Given the description of an element on the screen output the (x, y) to click on. 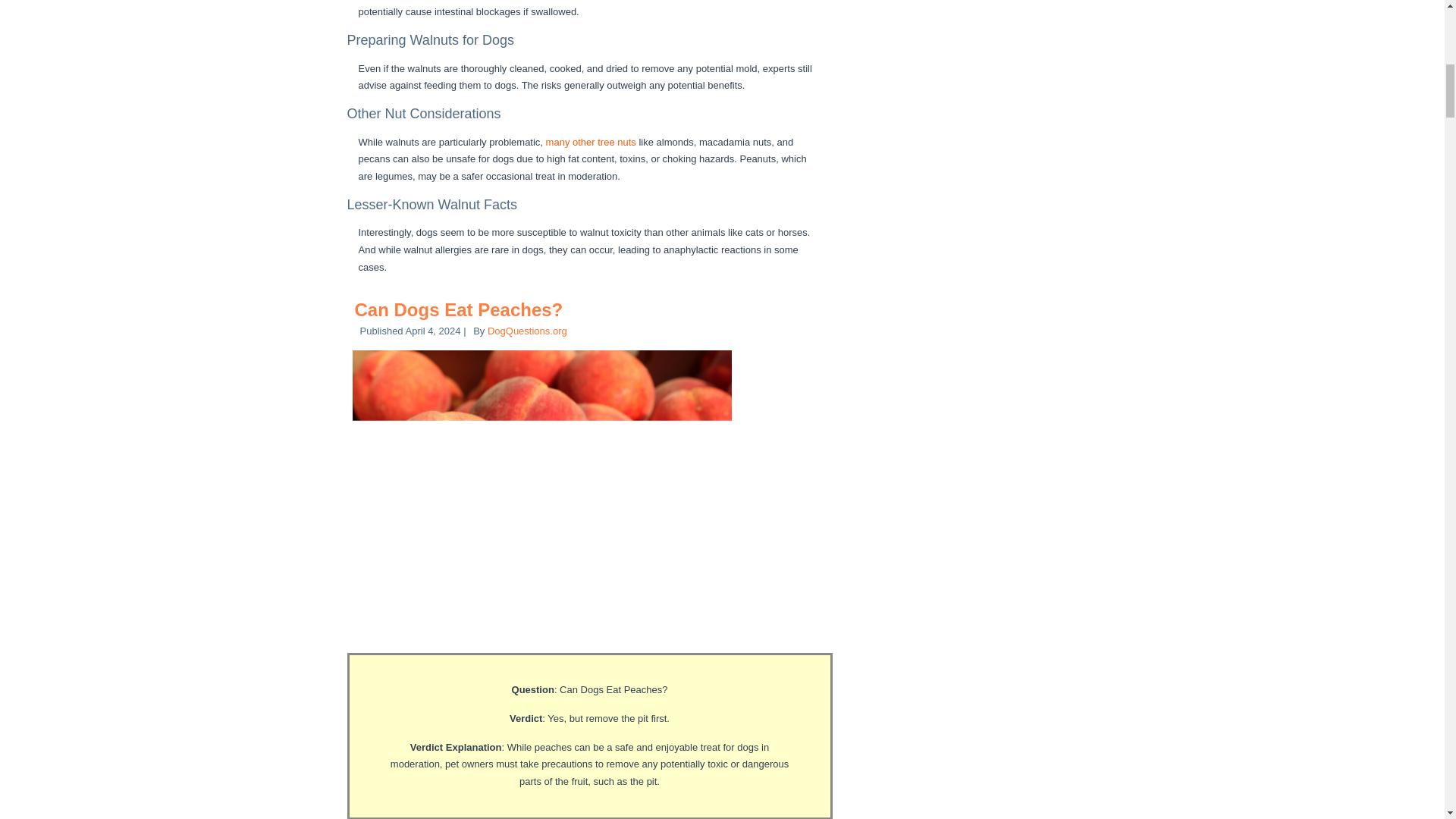
DogQuestions.org (527, 330)
View all posts by DogQuestions.org (527, 330)
many other tree nuts (591, 142)
6:56 pm (433, 330)
Can Dogs Eat Peaches? (459, 309)
Can Dogs Eat Peaches? (459, 309)
